Given the description of an element on the screen output the (x, y) to click on. 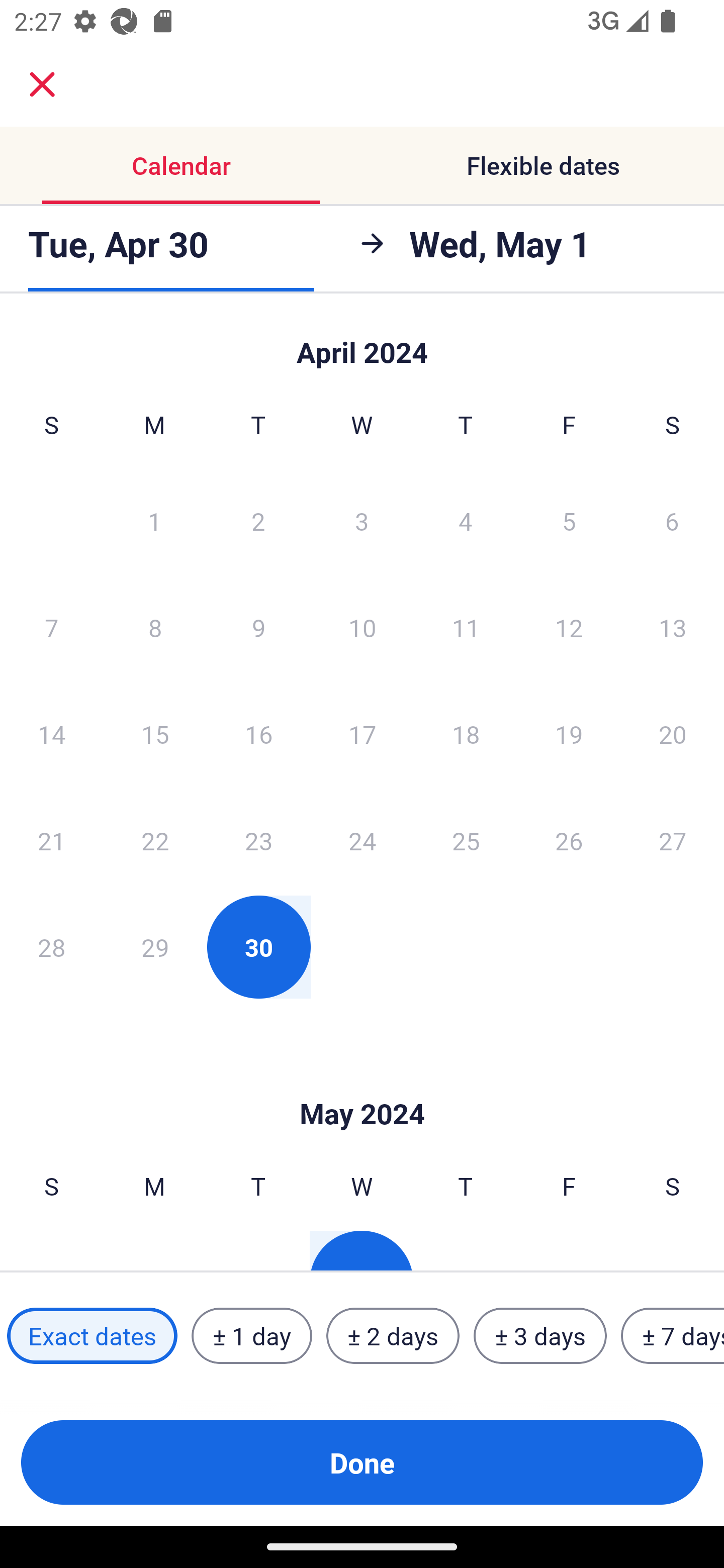
close. (42, 84)
Flexible dates (542, 164)
Skip to Done (362, 343)
1 Monday, April 1, 2024 (154, 520)
2 Tuesday, April 2, 2024 (257, 520)
3 Wednesday, April 3, 2024 (361, 520)
4 Thursday, April 4, 2024 (465, 520)
5 Friday, April 5, 2024 (568, 520)
6 Saturday, April 6, 2024 (672, 520)
7 Sunday, April 7, 2024 (51, 626)
8 Monday, April 8, 2024 (155, 626)
9 Tuesday, April 9, 2024 (258, 626)
10 Wednesday, April 10, 2024 (362, 626)
11 Thursday, April 11, 2024 (465, 626)
12 Friday, April 12, 2024 (569, 626)
13 Saturday, April 13, 2024 (672, 626)
14 Sunday, April 14, 2024 (51, 733)
15 Monday, April 15, 2024 (155, 733)
16 Tuesday, April 16, 2024 (258, 733)
17 Wednesday, April 17, 2024 (362, 733)
18 Thursday, April 18, 2024 (465, 733)
19 Friday, April 19, 2024 (569, 733)
20 Saturday, April 20, 2024 (672, 733)
21 Sunday, April 21, 2024 (51, 840)
22 Monday, April 22, 2024 (155, 840)
23 Tuesday, April 23, 2024 (258, 840)
24 Wednesday, April 24, 2024 (362, 840)
25 Thursday, April 25, 2024 (465, 840)
26 Friday, April 26, 2024 (569, 840)
27 Saturday, April 27, 2024 (672, 840)
28 Sunday, April 28, 2024 (51, 946)
29 Monday, April 29, 2024 (155, 946)
Skip to Done (362, 1083)
Exact dates (92, 1335)
± 1 day (251, 1335)
± 2 days (392, 1335)
± 3 days (539, 1335)
± 7 days (672, 1335)
Done (361, 1462)
